Given the description of an element on the screen output the (x, y) to click on. 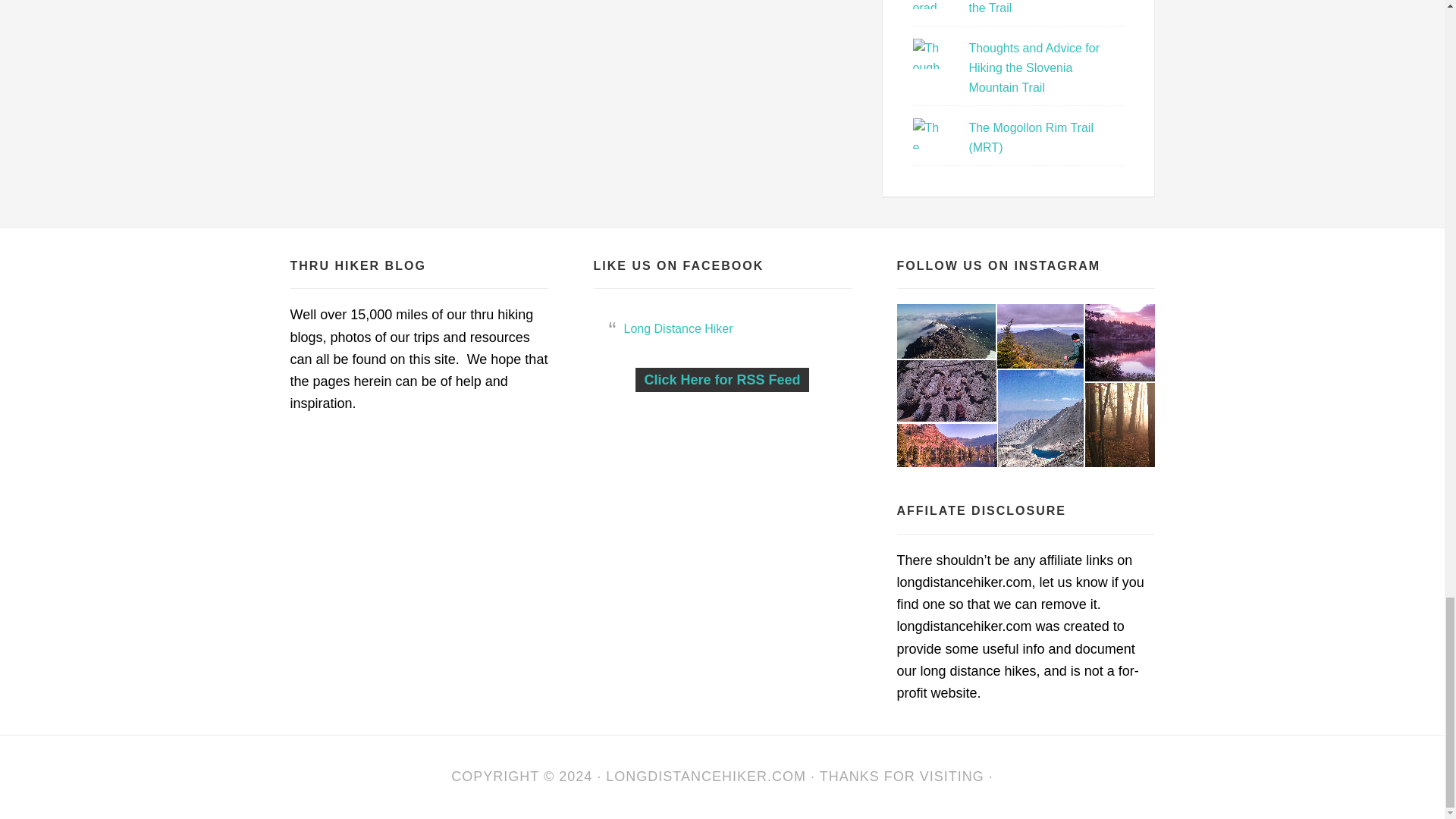
Thoughts and Advice for Hiking the Slovenia Mountain Trail (1033, 67)
Long Distance Hiker (705, 776)
